Given the description of an element on the screen output the (x, y) to click on. 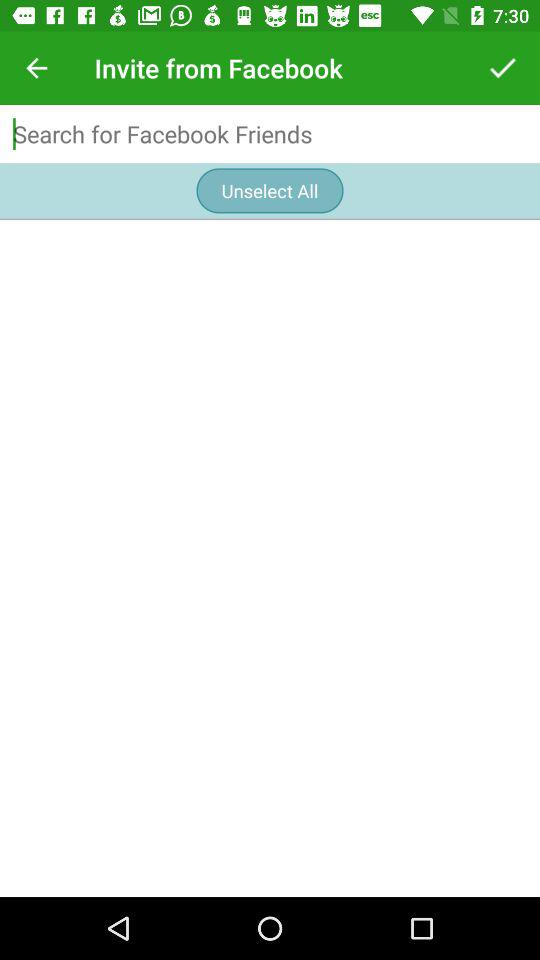
open the item above the unselect all icon (269, 134)
